Given the description of an element on the screen output the (x, y) to click on. 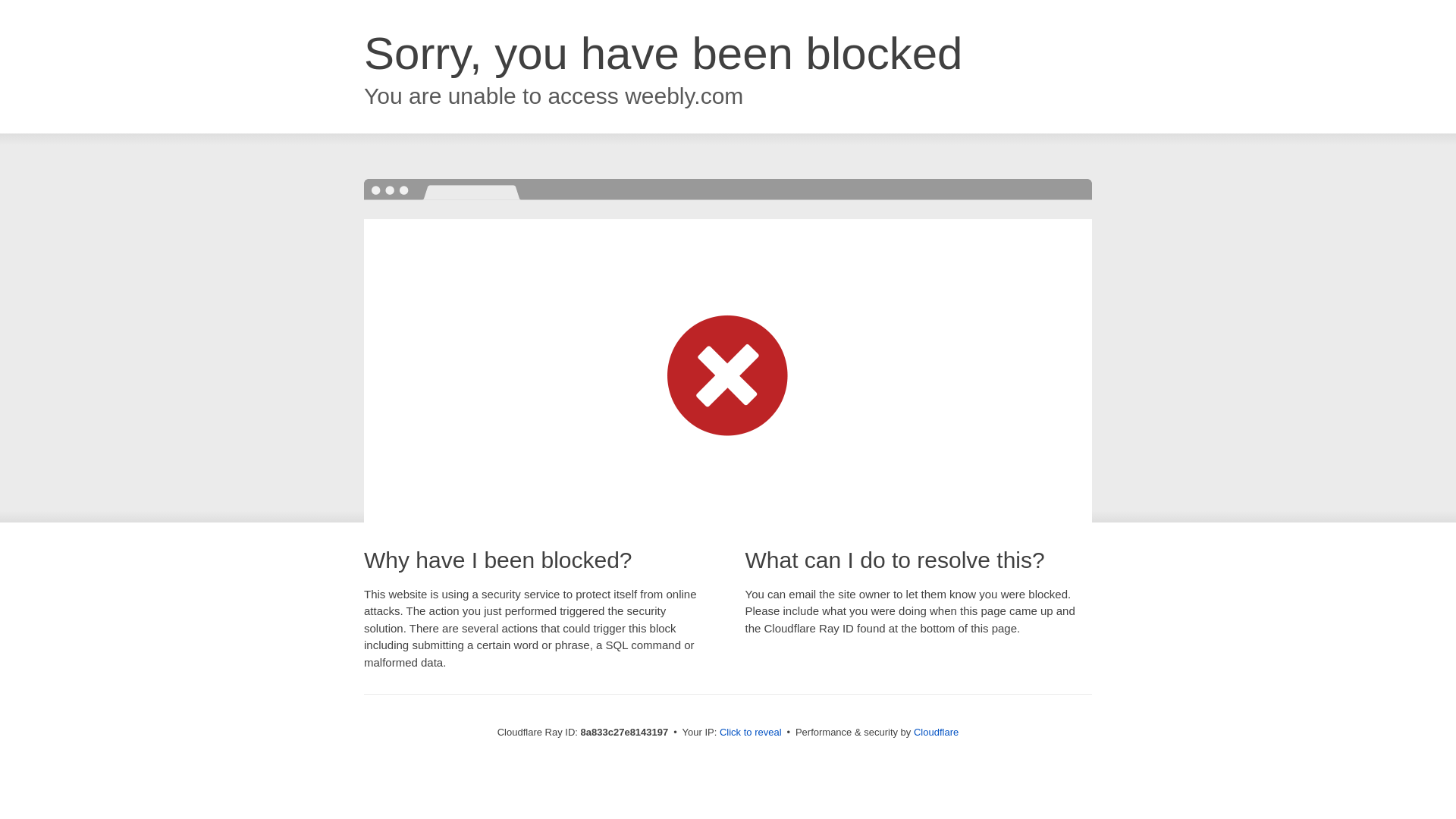
Cloudflare (936, 731)
Click to reveal (750, 732)
